Given the description of an element on the screen output the (x, y) to click on. 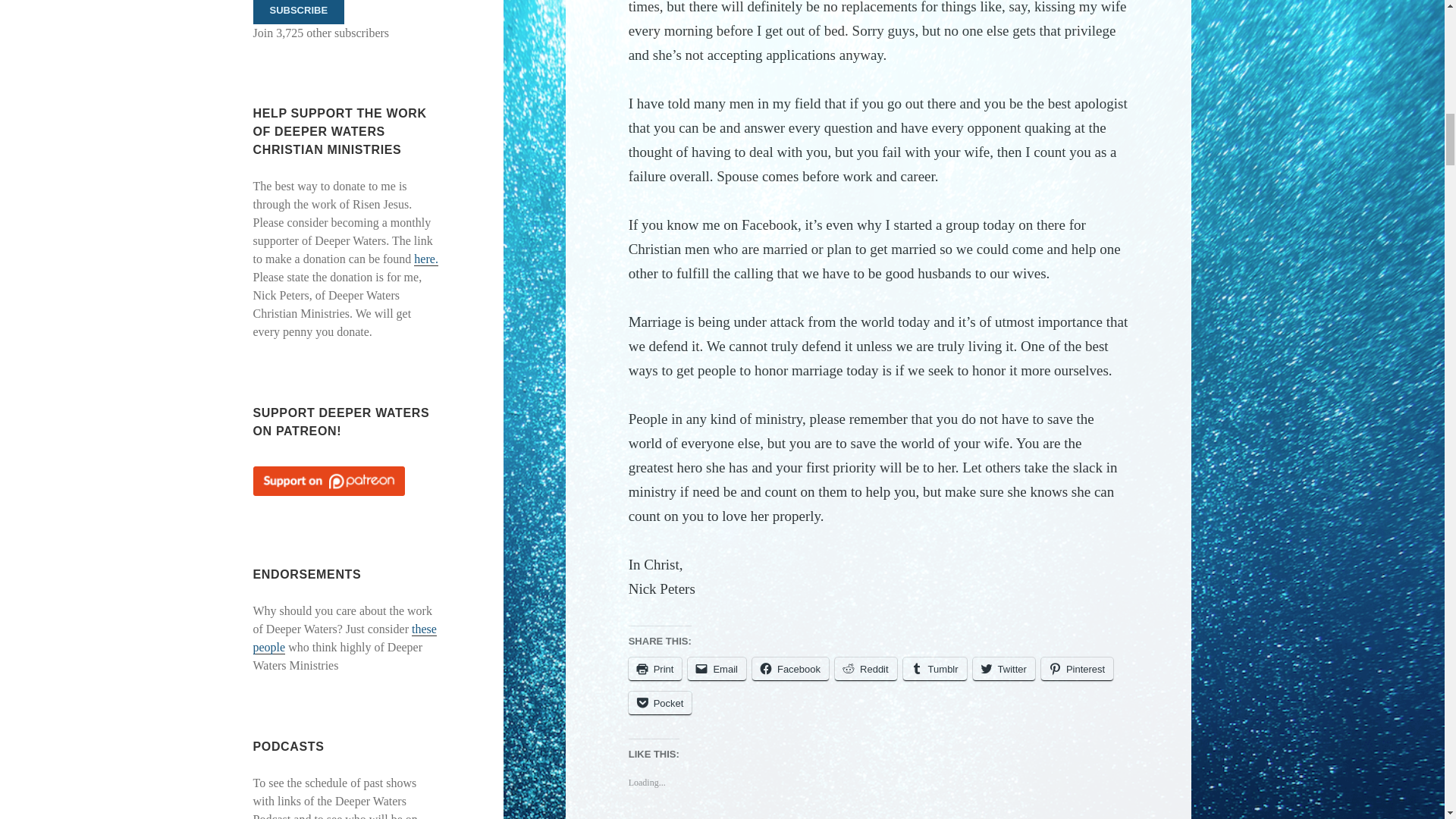
here. (425, 259)
Click to email a link to a friend (716, 668)
Click to share on Pinterest (1077, 668)
Click to share on Twitter (1003, 668)
Click to share on Facebook (790, 668)
Click to print (655, 668)
Click to share on Reddit (865, 668)
Click to share on Pocket (660, 702)
these people (344, 638)
SUBSCRIBE (299, 12)
